Given the description of an element on the screen output the (x, y) to click on. 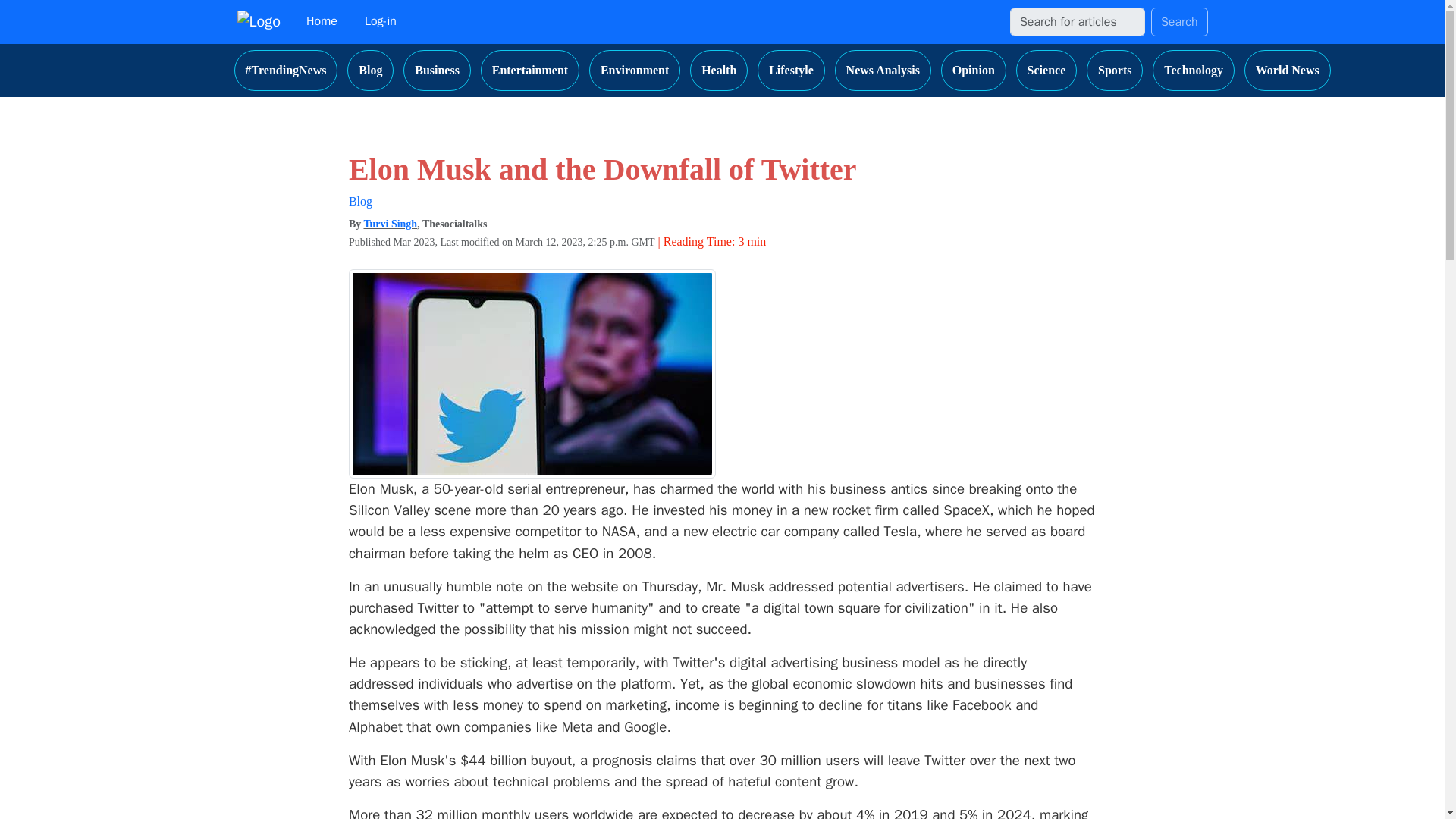
Log-in (380, 21)
Turvi Singh (389, 224)
News Analysis (882, 69)
Science (1046, 69)
Entertainment (529, 69)
Sports (1114, 69)
Environment (634, 69)
Business (436, 69)
Home (321, 21)
Health (719, 69)
